Given the description of an element on the screen output the (x, y) to click on. 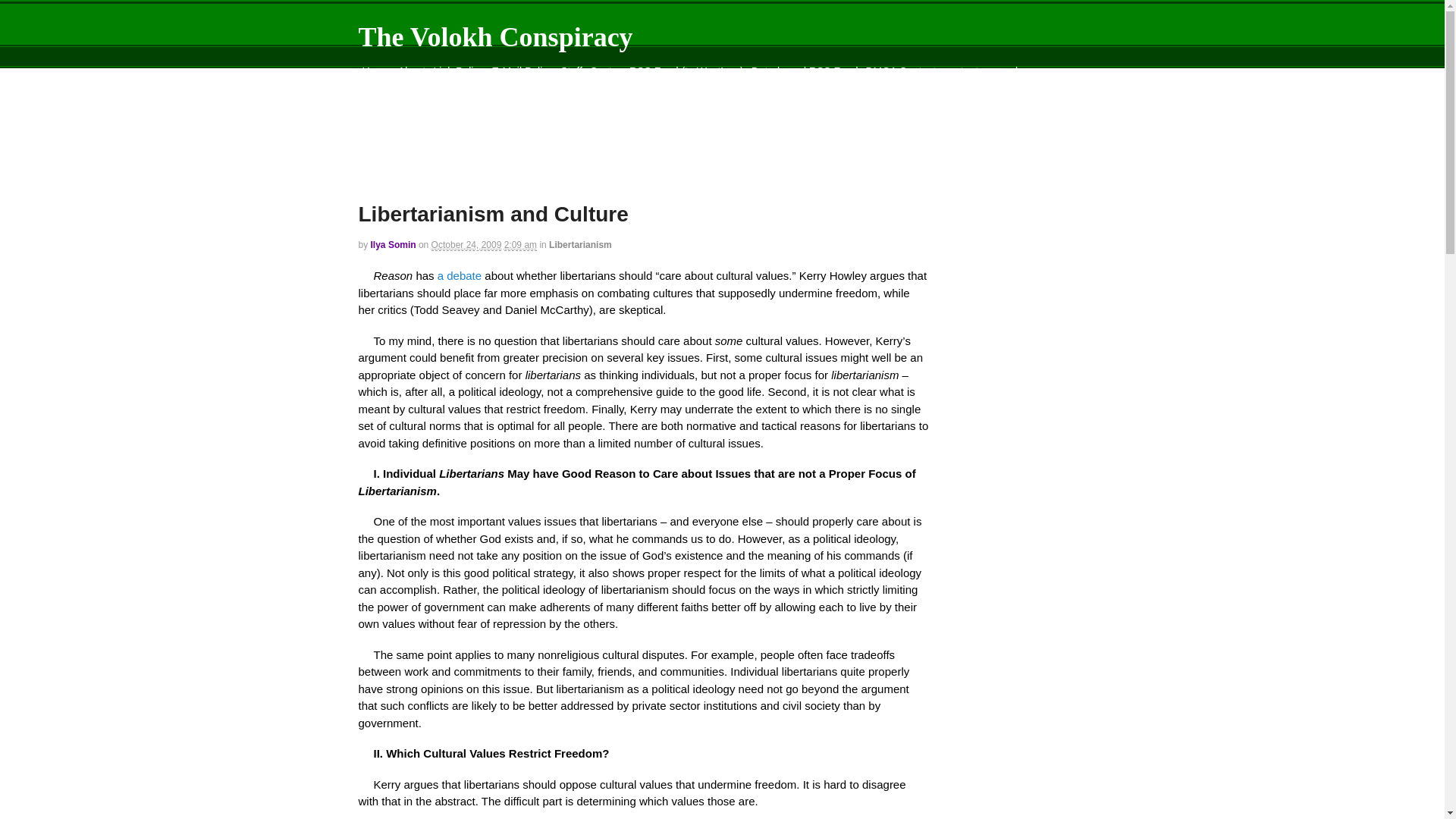
The Volokh Conspiracy (494, 37)
Stuff (571, 70)
Posts by Ilya Somin (393, 244)
Date-based RSS Feed (804, 70)
2009-10-24T02:09:01-0400 (466, 244)
DMCA Contact (900, 70)
Ilya Somin (393, 244)
2009-10-24T02:09:01-0400 (520, 244)
About (411, 70)
Move to Reason site (577, 89)
Home (375, 70)
E-Mail Policy (521, 70)
a debate (459, 275)
Move to the Washington Post Site (441, 89)
Link Policy (458, 70)
